Given the description of an element on the screen output the (x, y) to click on. 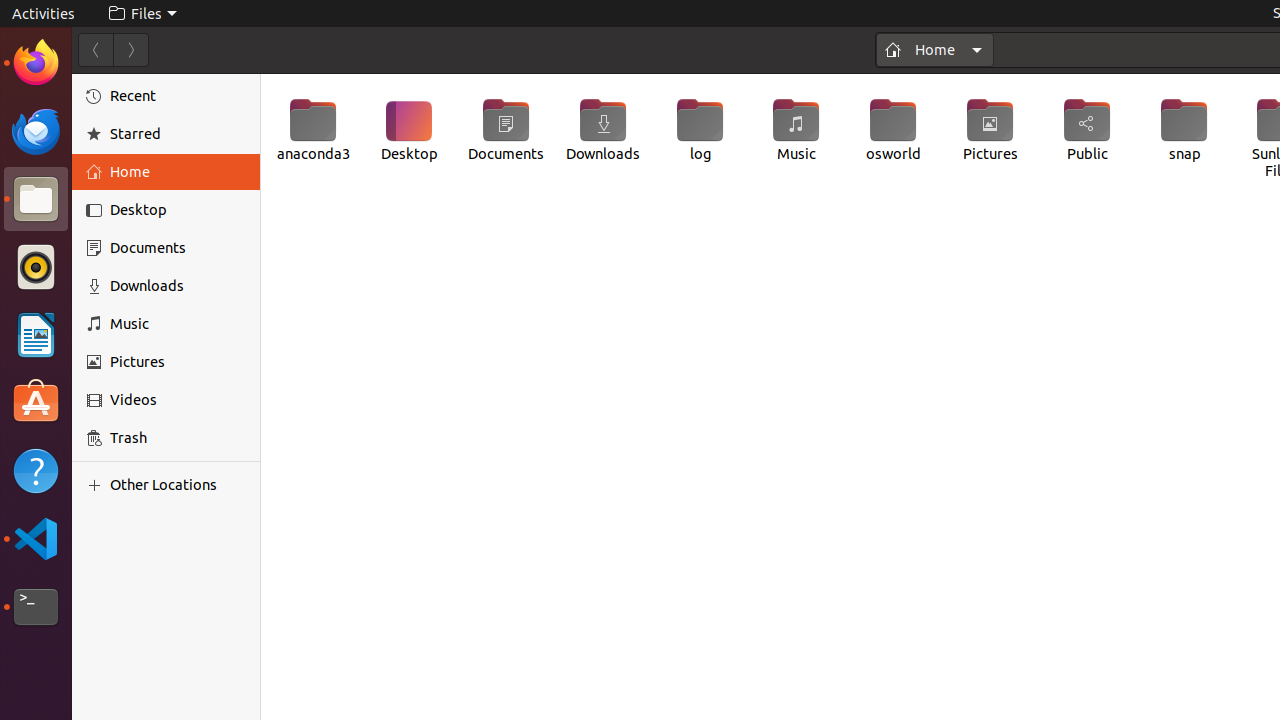
Terminal Element type: push-button (36, 607)
Home Element type: label (178, 172)
Downloads Element type: canvas (603, 130)
Pictures Element type: canvas (990, 130)
Music Element type: label (178, 324)
